Given the description of an element on the screen output the (x, y) to click on. 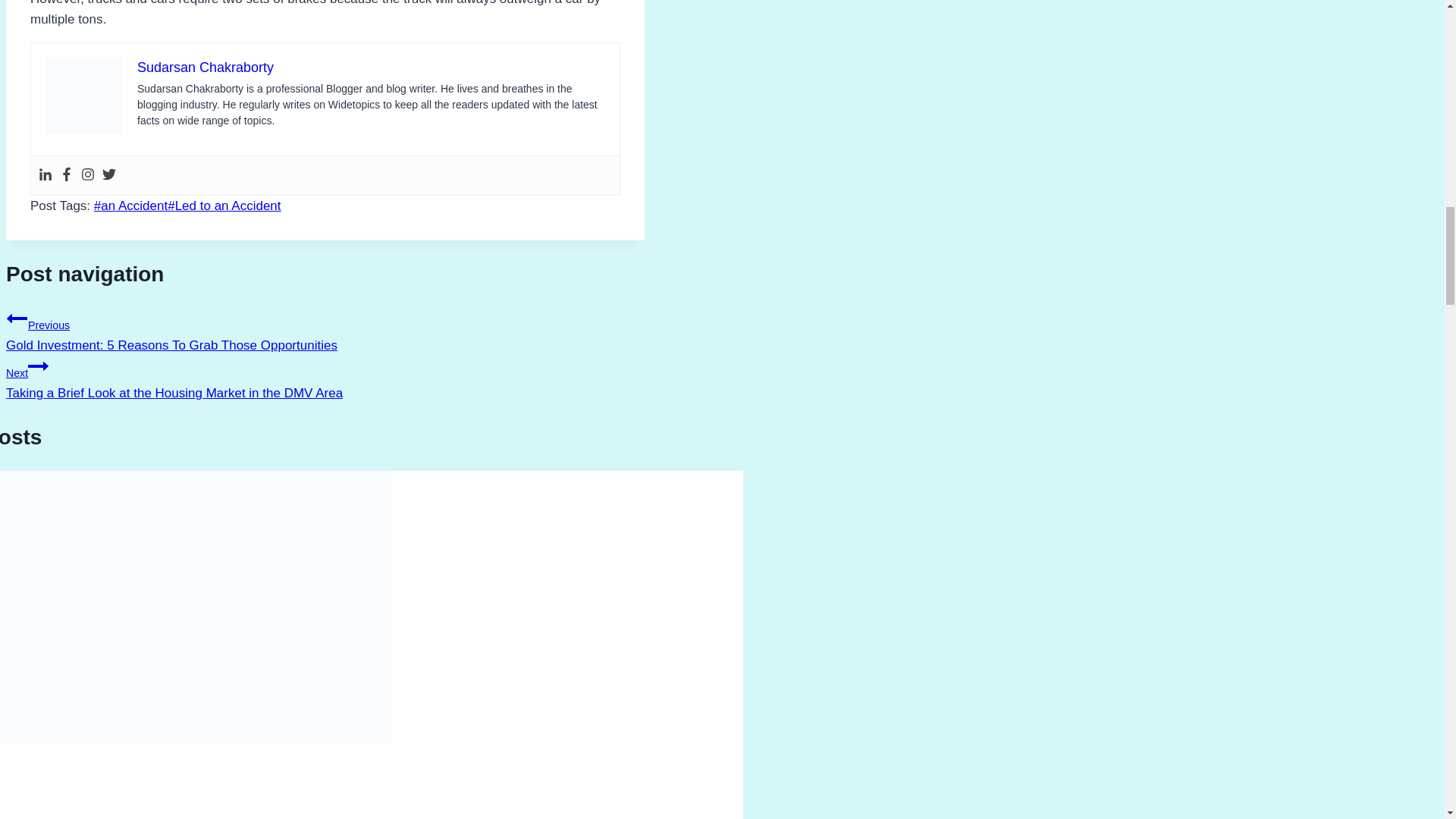
Top 8 Personal Injury Claim Tips (106, 817)
Led to an Accident (224, 205)
Continue (37, 365)
Sudarsan Chakraborty (204, 67)
Previous (16, 318)
an Accident (130, 205)
